Given the description of an element on the screen output the (x, y) to click on. 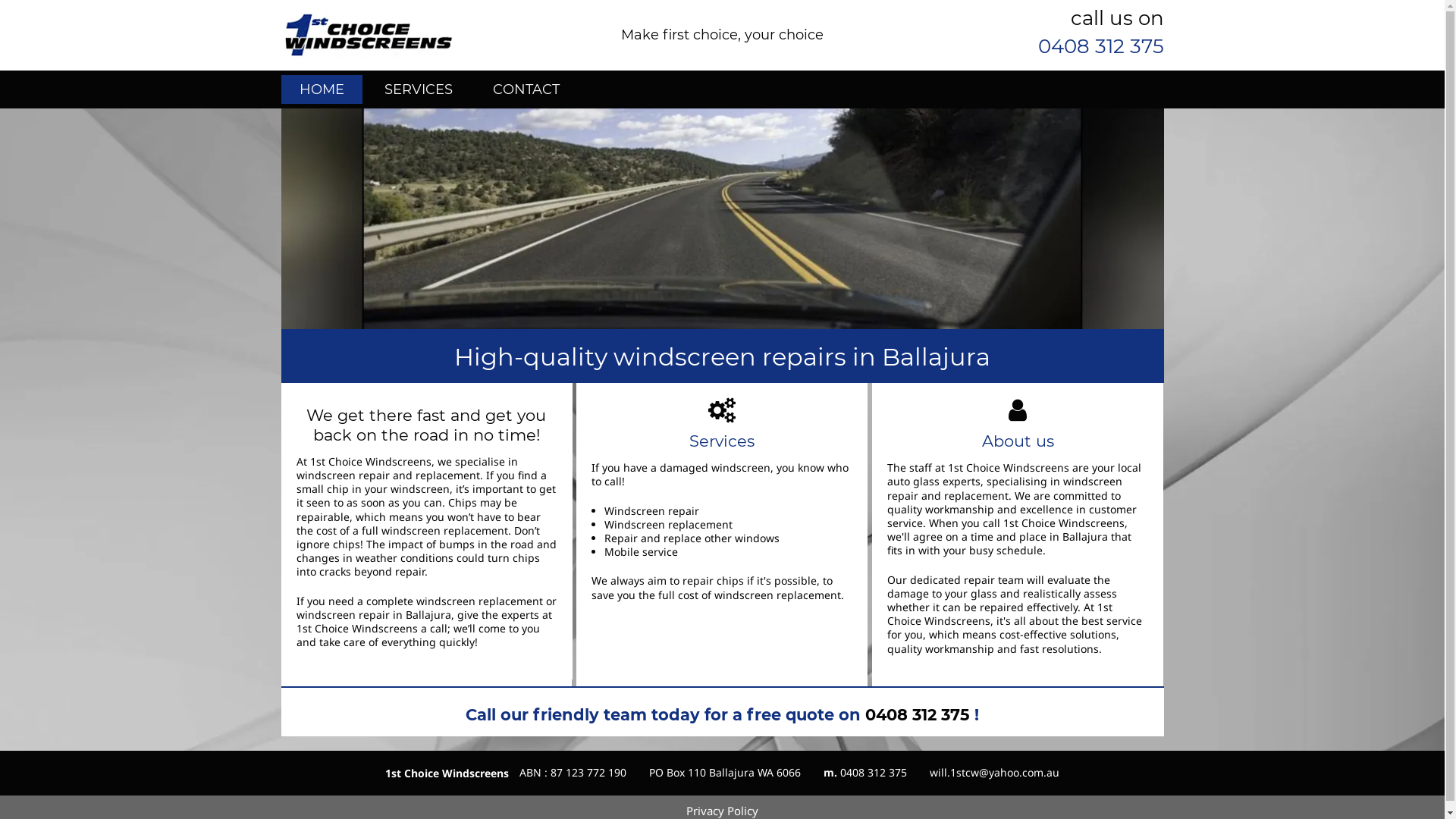
0408 312 375 Element type: text (917, 714)
first choice windscreens for car Element type: hover (721, 218)
first choice windscreens business logo Element type: hover (367, 35)
SERVICES Element type: text (417, 89)
will.1stcw@yahoo.com.au Element type: text (994, 772)
Privacy Policy Element type: text (722, 810)
0408 312 375 Element type: text (1100, 46)
HOME Element type: text (320, 89)
0408 312 375 Element type: text (873, 772)
CONTACT Element type: text (525, 89)
